Given the description of an element on the screen output the (x, y) to click on. 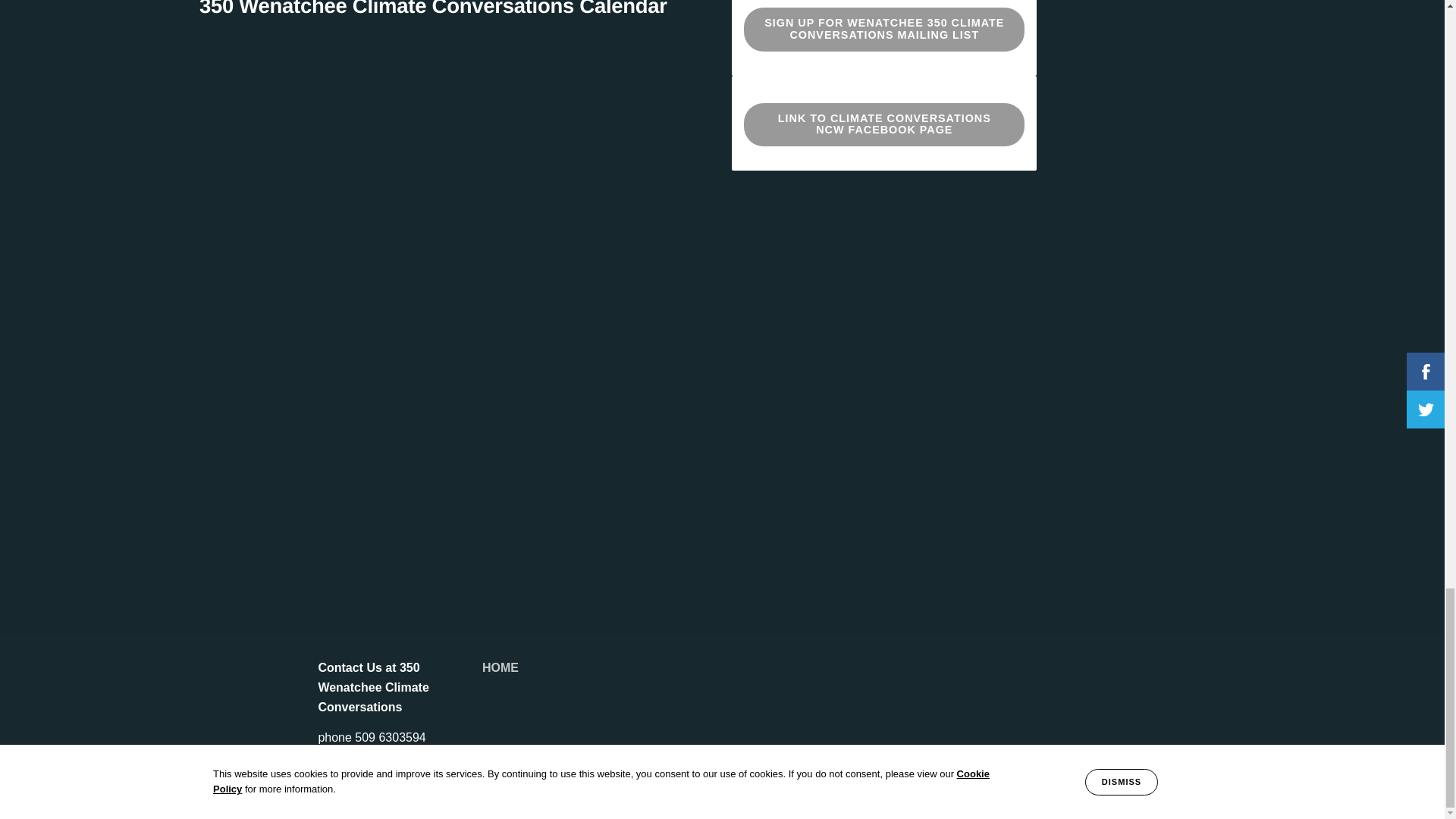
LINK TO CLIMATE CONVERSATIONS NCW FACEBOOK PAGE (884, 124)
HOME (499, 667)
SIGN UP FOR WENATCHEE 350 CLIMATE CONVERSATIONS MAILING LIST (884, 29)
